Given the description of an element on the screen output the (x, y) to click on. 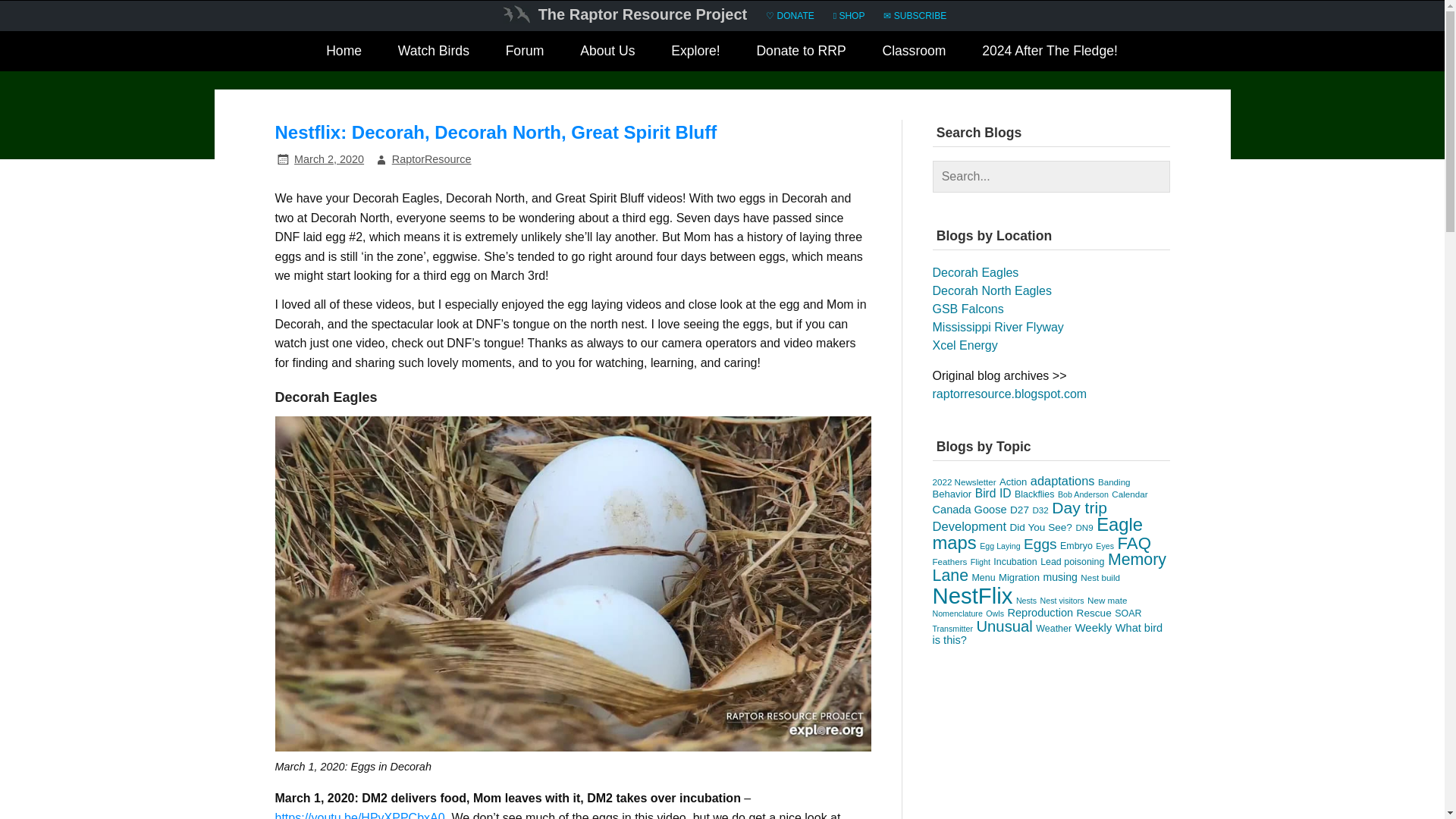
Watch Birds (432, 51)
Home (343, 51)
Forum (524, 51)
Explore! (695, 51)
Talk with other fans (524, 51)
3:47 pm (329, 159)
View all posts by RaptorResource (431, 159)
About Us (607, 51)
